Given the description of an element on the screen output the (x, y) to click on. 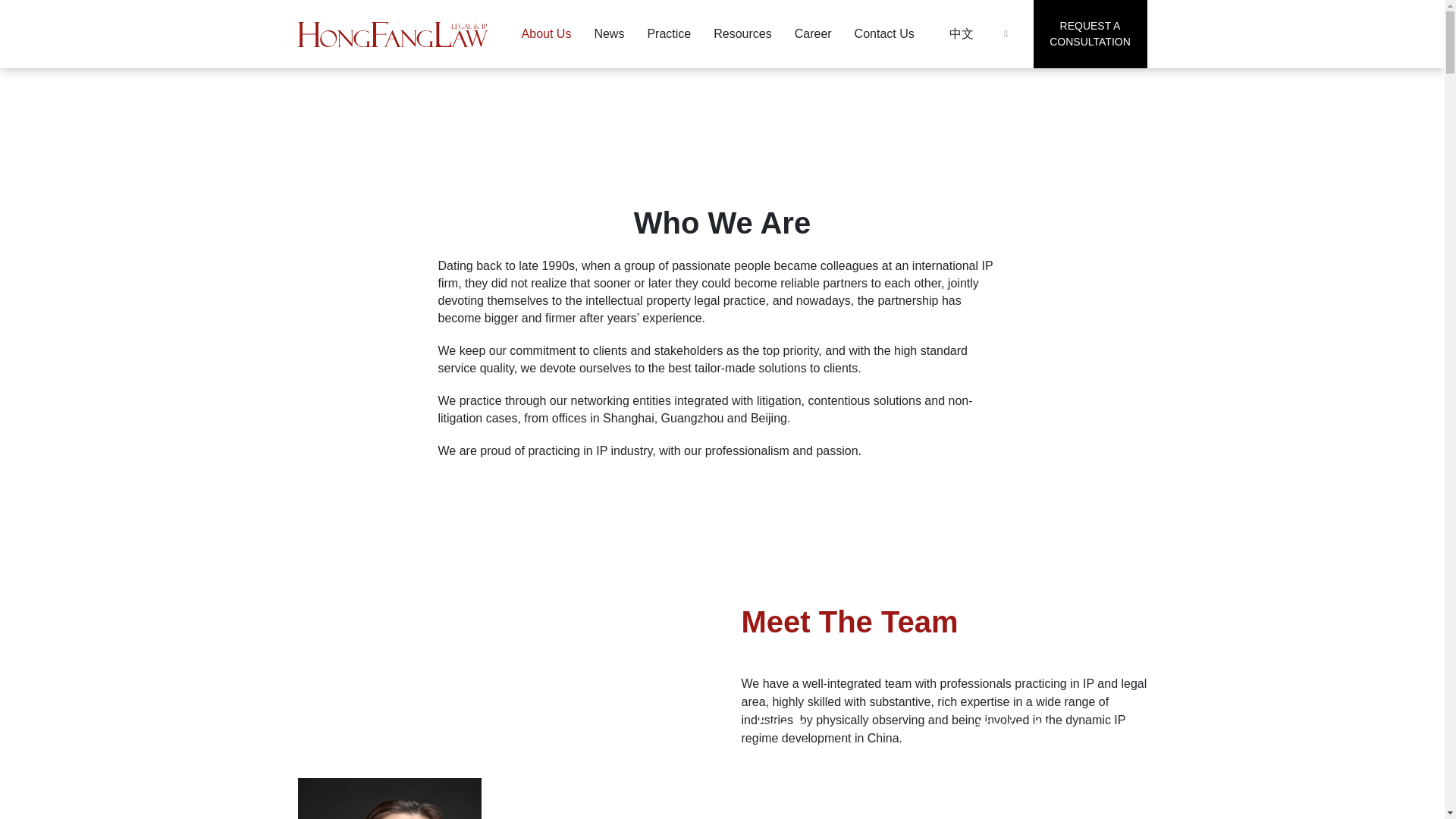
Practice (668, 33)
Resources (742, 33)
Search (1005, 34)
Career (812, 33)
About Us (546, 33)
Practice (668, 33)
Contact Us (884, 33)
HongFangLaw (391, 33)
REQUEST A CONSULTATION (389, 798)
Resources (1089, 33)
News (742, 33)
Contact Us (608, 33)
News (884, 33)
About Us (608, 33)
